Given the description of an element on the screen output the (x, y) to click on. 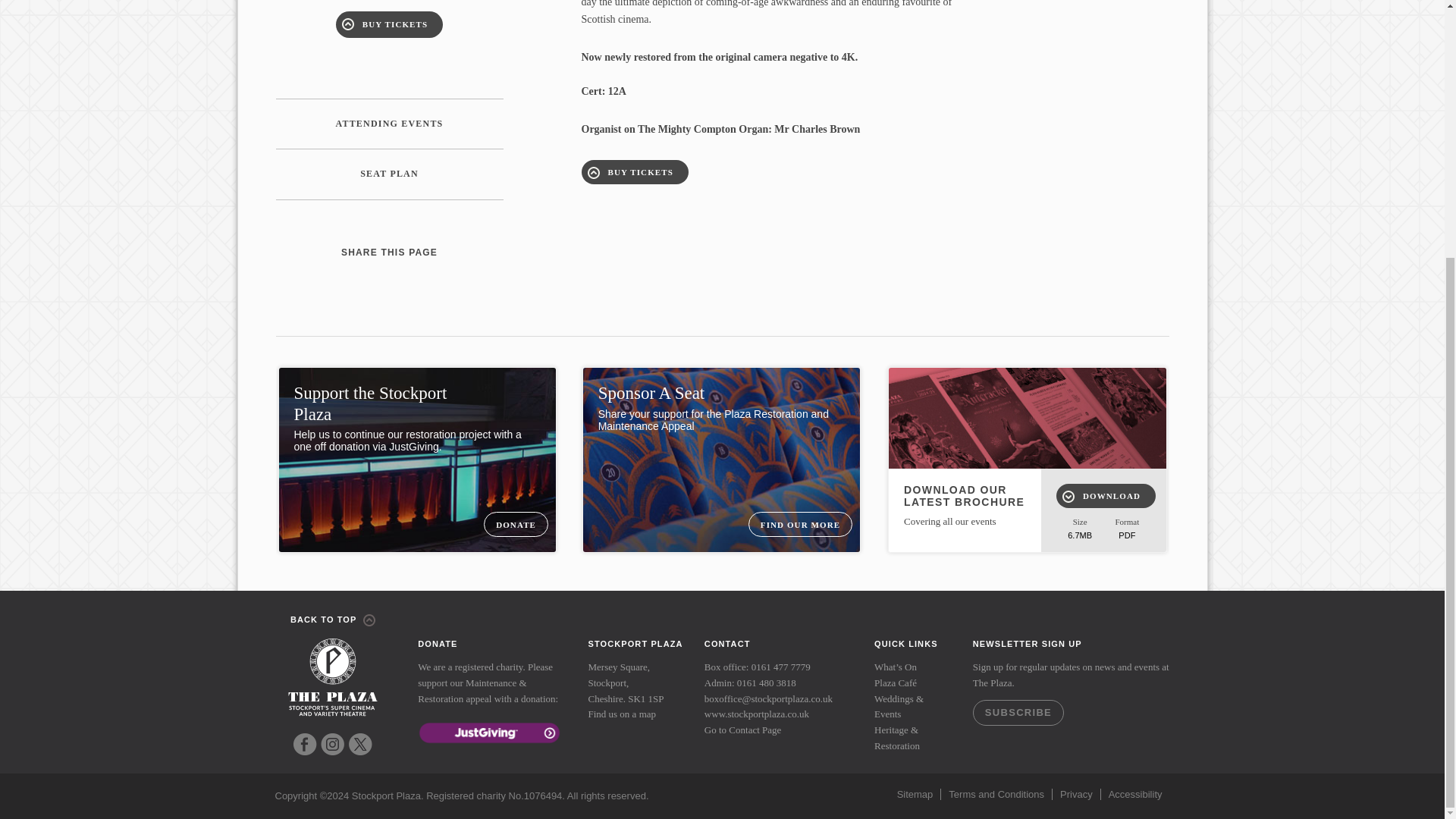
SEAT PLAN (389, 174)
BUY TICKETS (389, 23)
ATTENDING EVENTS (389, 124)
